Given the description of an element on the screen output the (x, y) to click on. 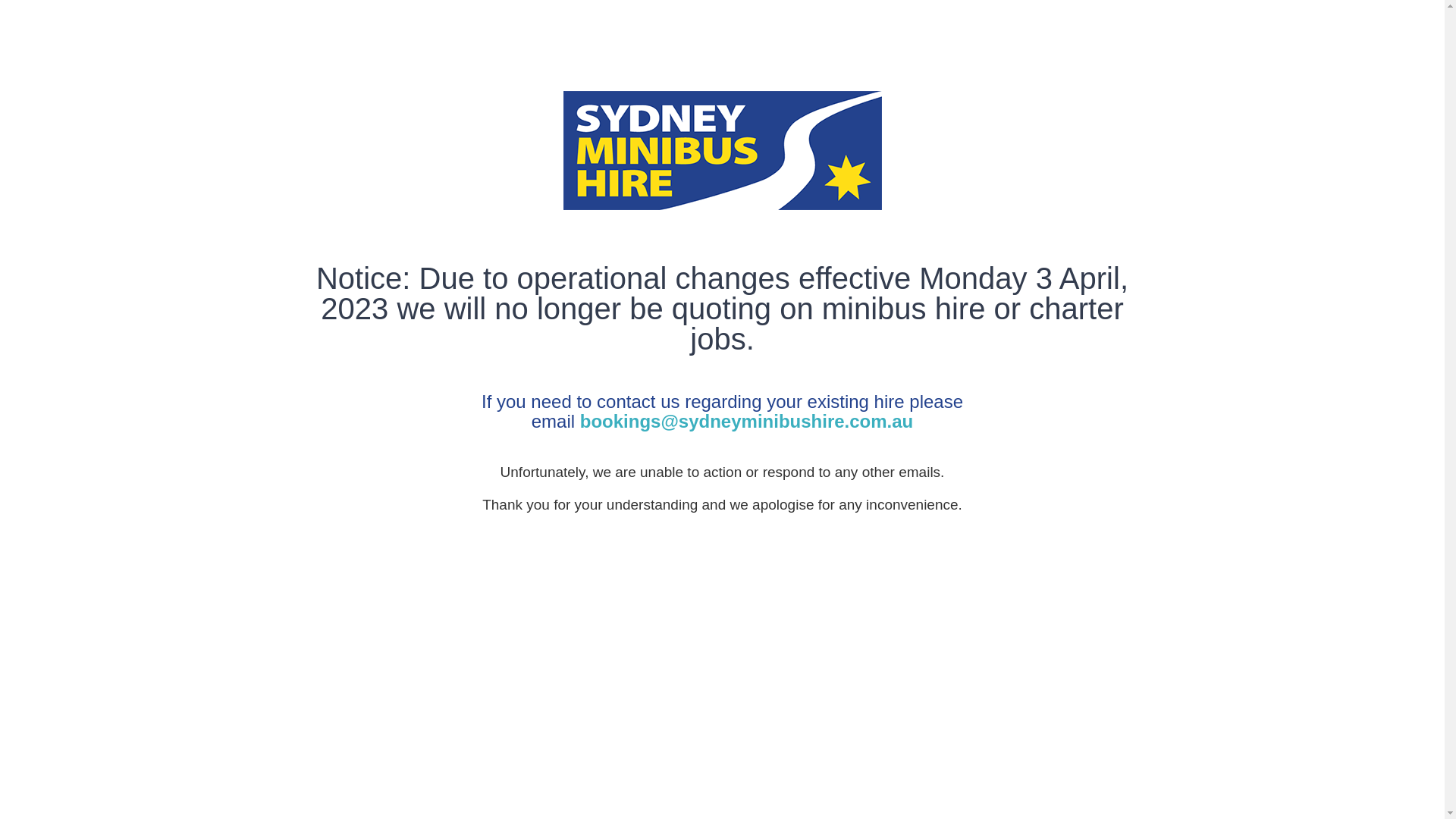
bookings@sydneyminibushire.com.au Element type: text (746, 421)
